Given the description of an element on the screen output the (x, y) to click on. 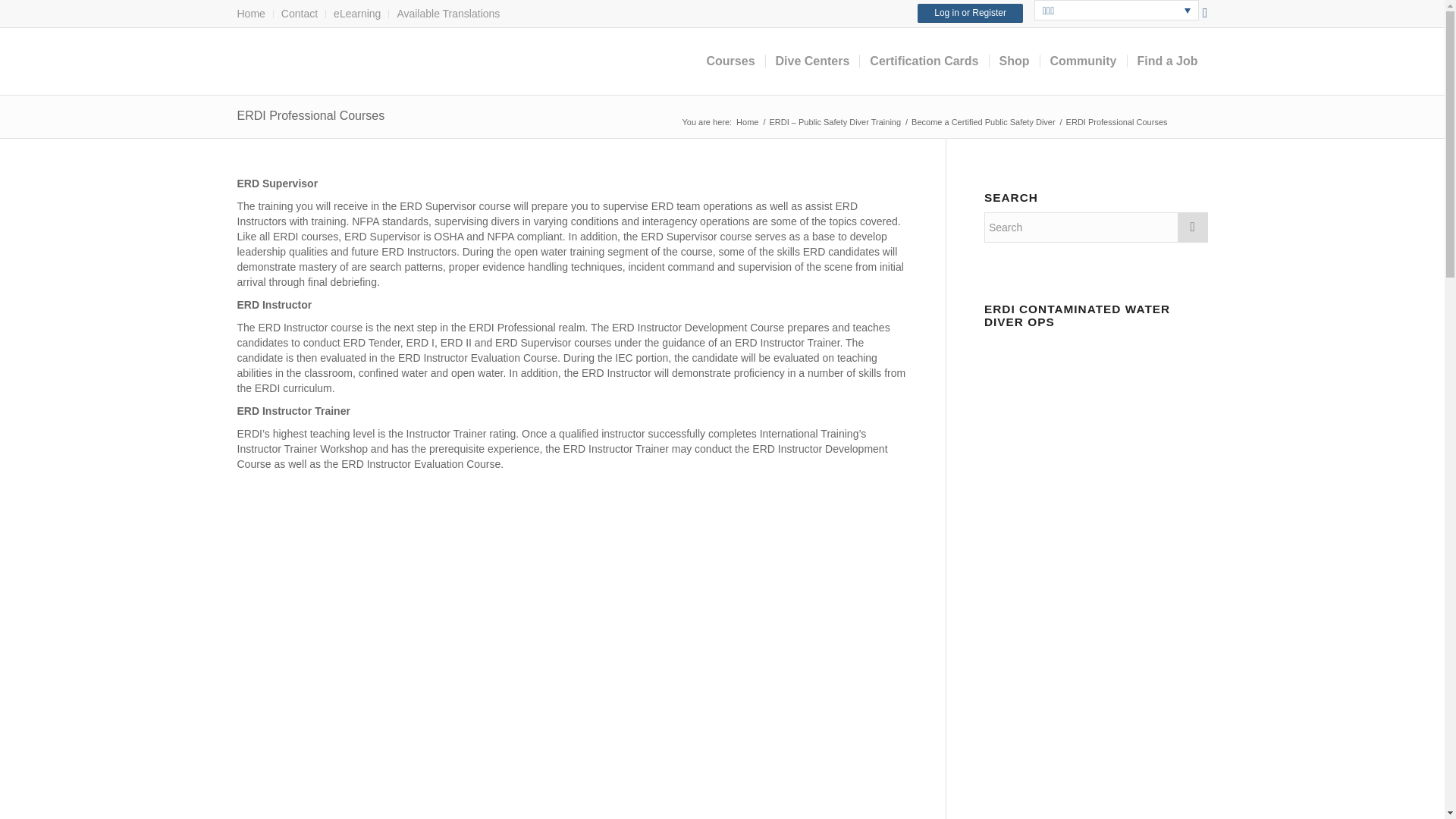
Courses (729, 61)
Become a Certified Public Safety Diver (983, 122)
eLearning (356, 13)
Contact (299, 13)
Permanent Link: ERDI Professional Courses (309, 115)
Home (249, 13)
Available Translations (447, 13)
Log in or Register (970, 13)
